Given the description of an element on the screen output the (x, y) to click on. 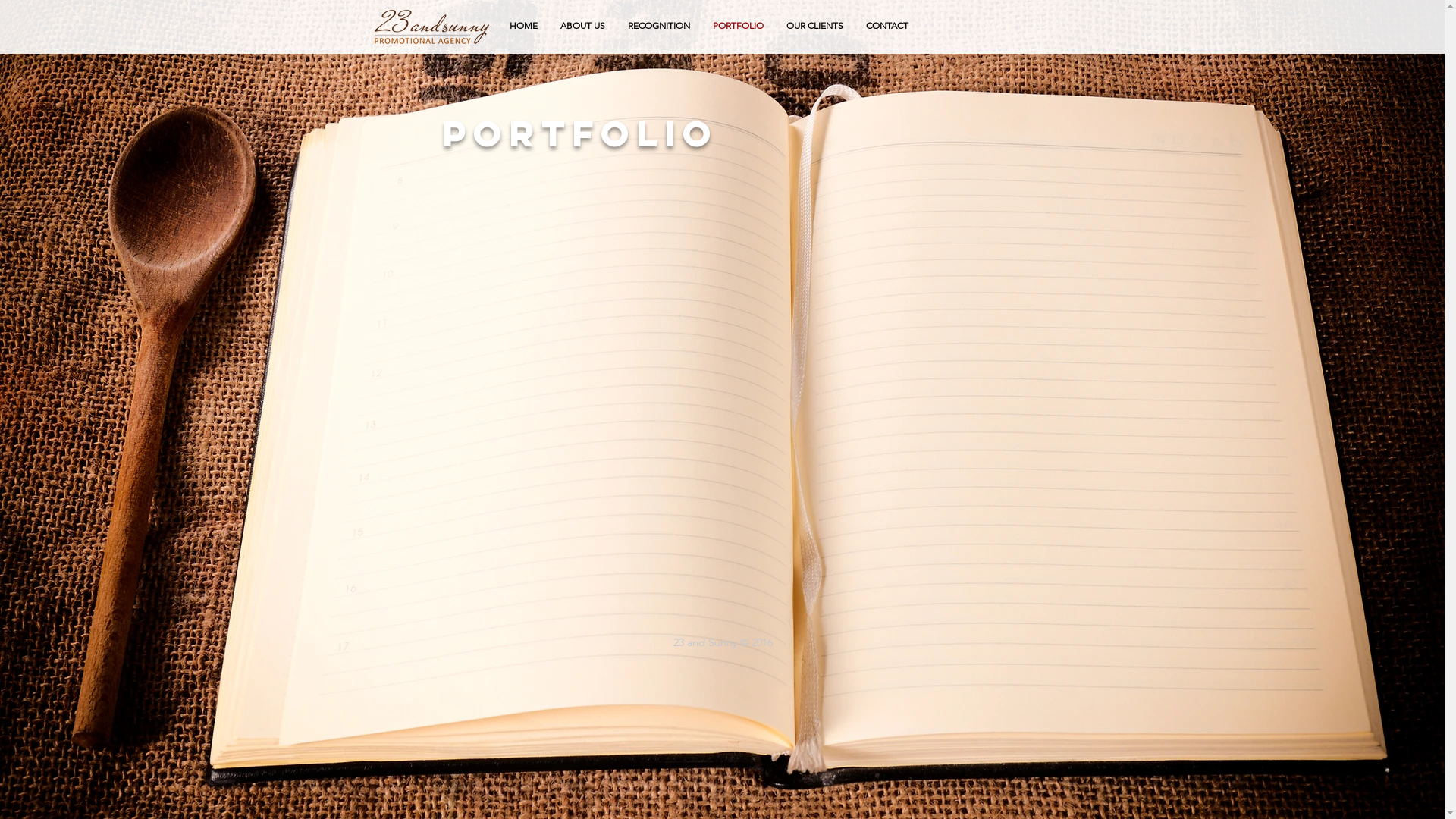
ABOUT US Element type: text (582, 25)
RECOGNITION Element type: text (657, 25)
HOME Element type: text (522, 25)
CONTACT Element type: text (886, 25)
OUR CLIENTS Element type: text (814, 25)
PORTFOLIO Element type: text (737, 25)
